Given the description of an element on the screen output the (x, y) to click on. 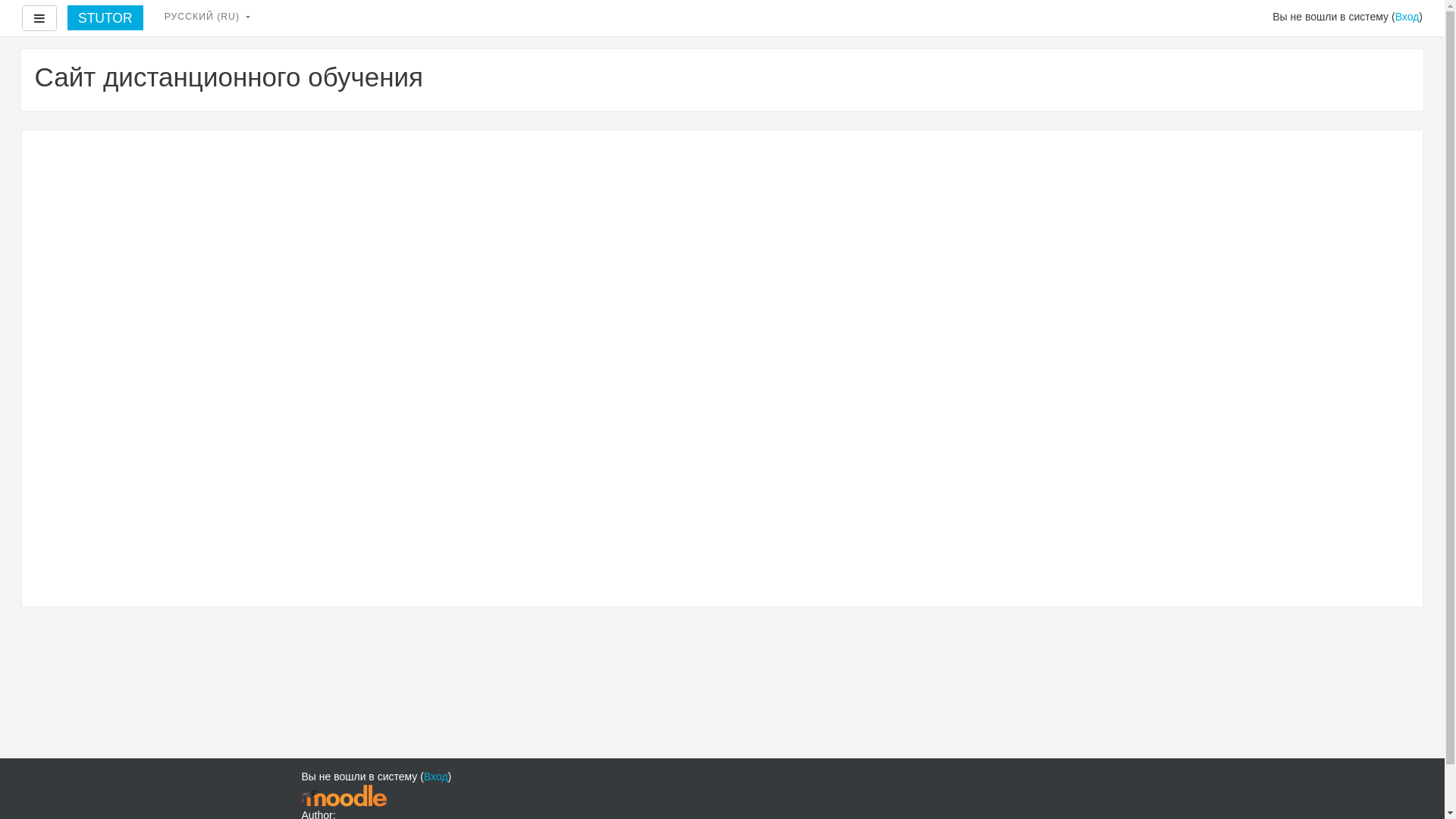
Moodle Element type: hover (343, 795)
STUTOR Element type: text (105, 17)
